Given the description of an element on the screen output the (x, y) to click on. 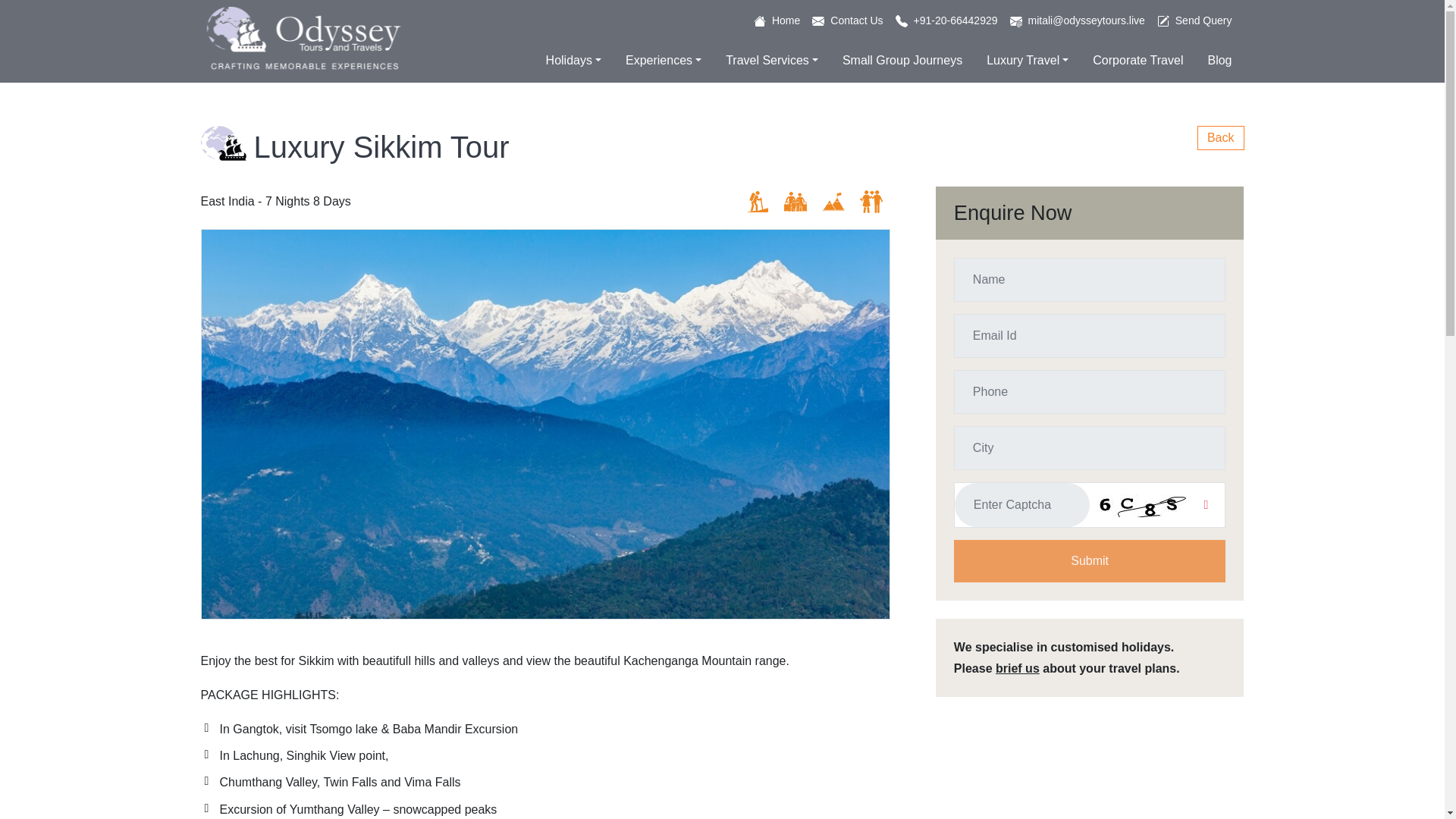
Home (777, 24)
Holidays (573, 60)
Contact Us (847, 24)
Submit (1089, 560)
Odyssey Travels (302, 37)
Send Query (1195, 22)
